Given the description of an element on the screen output the (x, y) to click on. 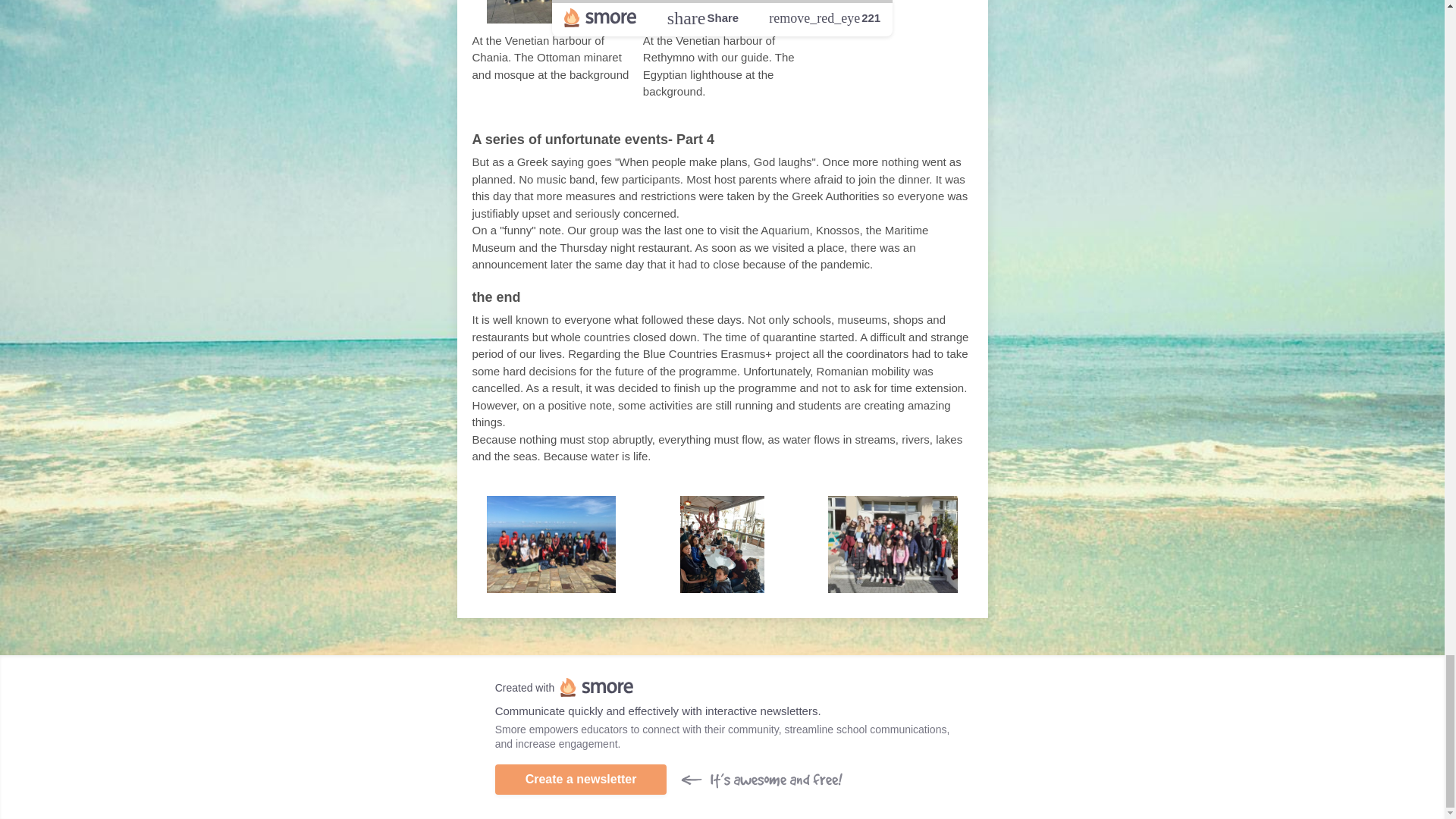
Create a newsletter (580, 779)
